Given the description of an element on the screen output the (x, y) to click on. 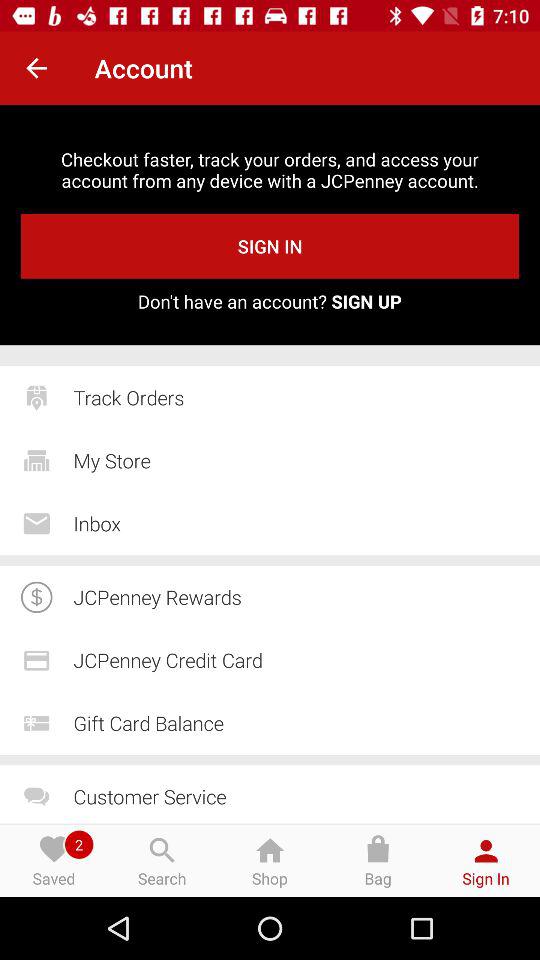
choose the item above the checkout faster track (36, 68)
